Given the description of an element on the screen output the (x, y) to click on. 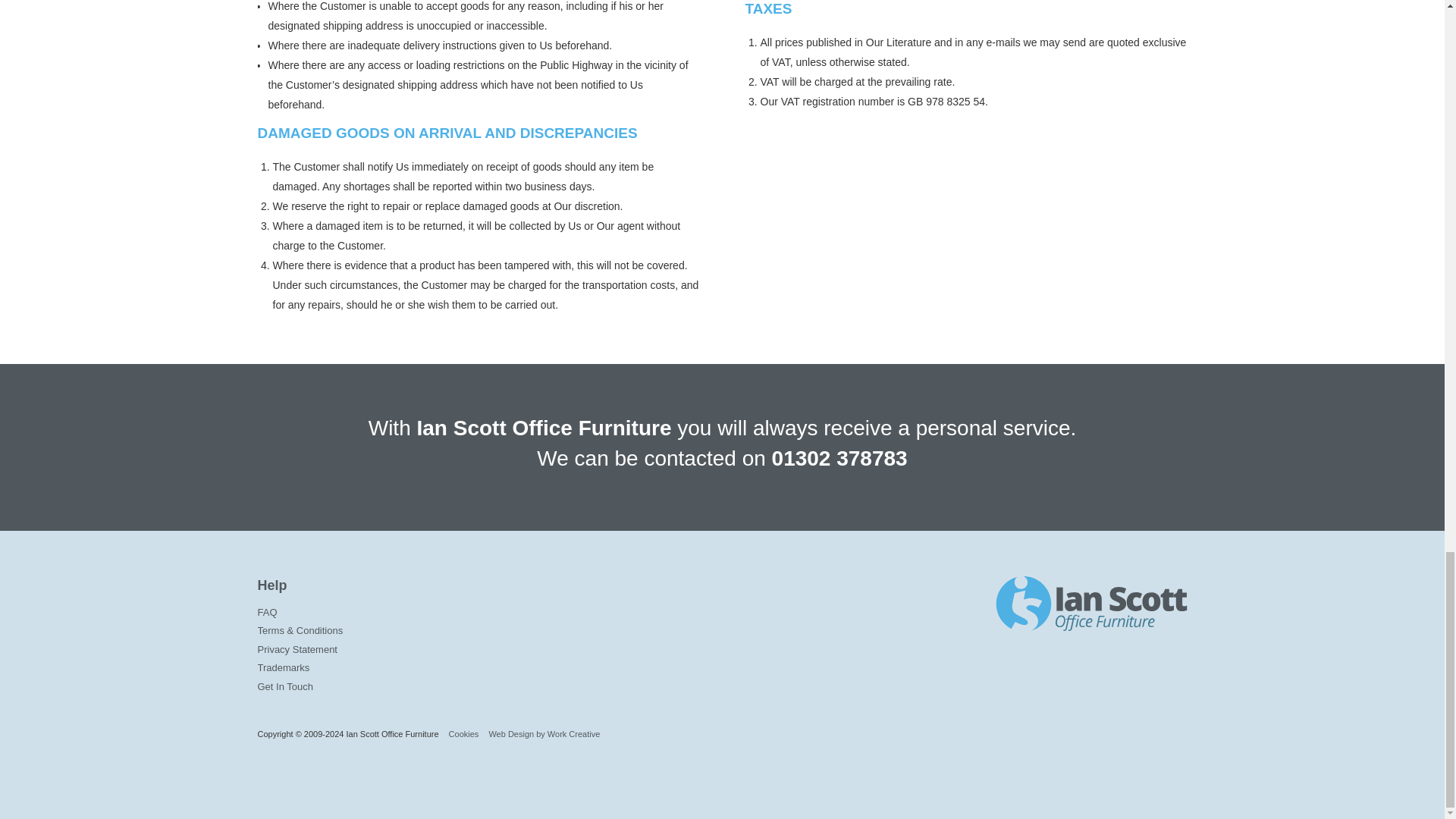
Get In Touch (412, 687)
FAQ (412, 612)
Trademarks (412, 668)
Web Design by Work Creative (543, 734)
Privacy Statement (412, 650)
Cookies (463, 734)
